Given the description of an element on the screen output the (x, y) to click on. 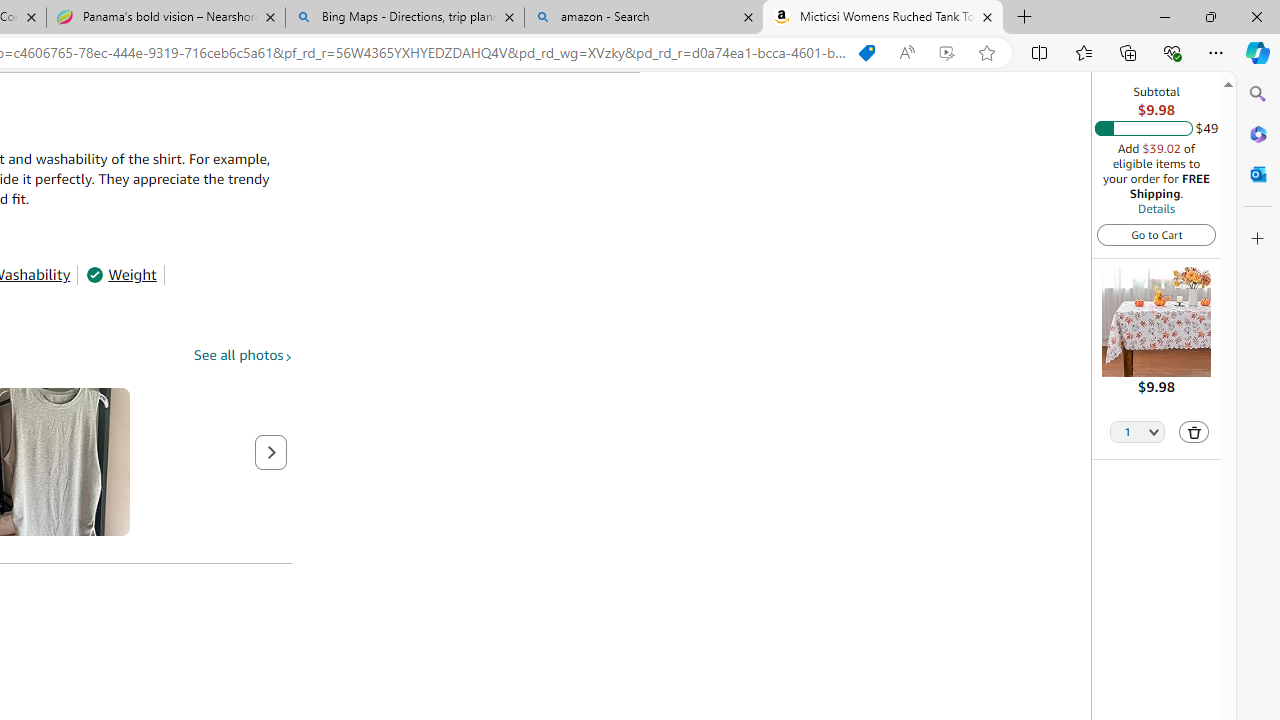
See all photos (243, 355)
Enhance video (946, 53)
Shopping in Microsoft Edge (867, 53)
Next page (271, 452)
